Given the description of an element on the screen output the (x, y) to click on. 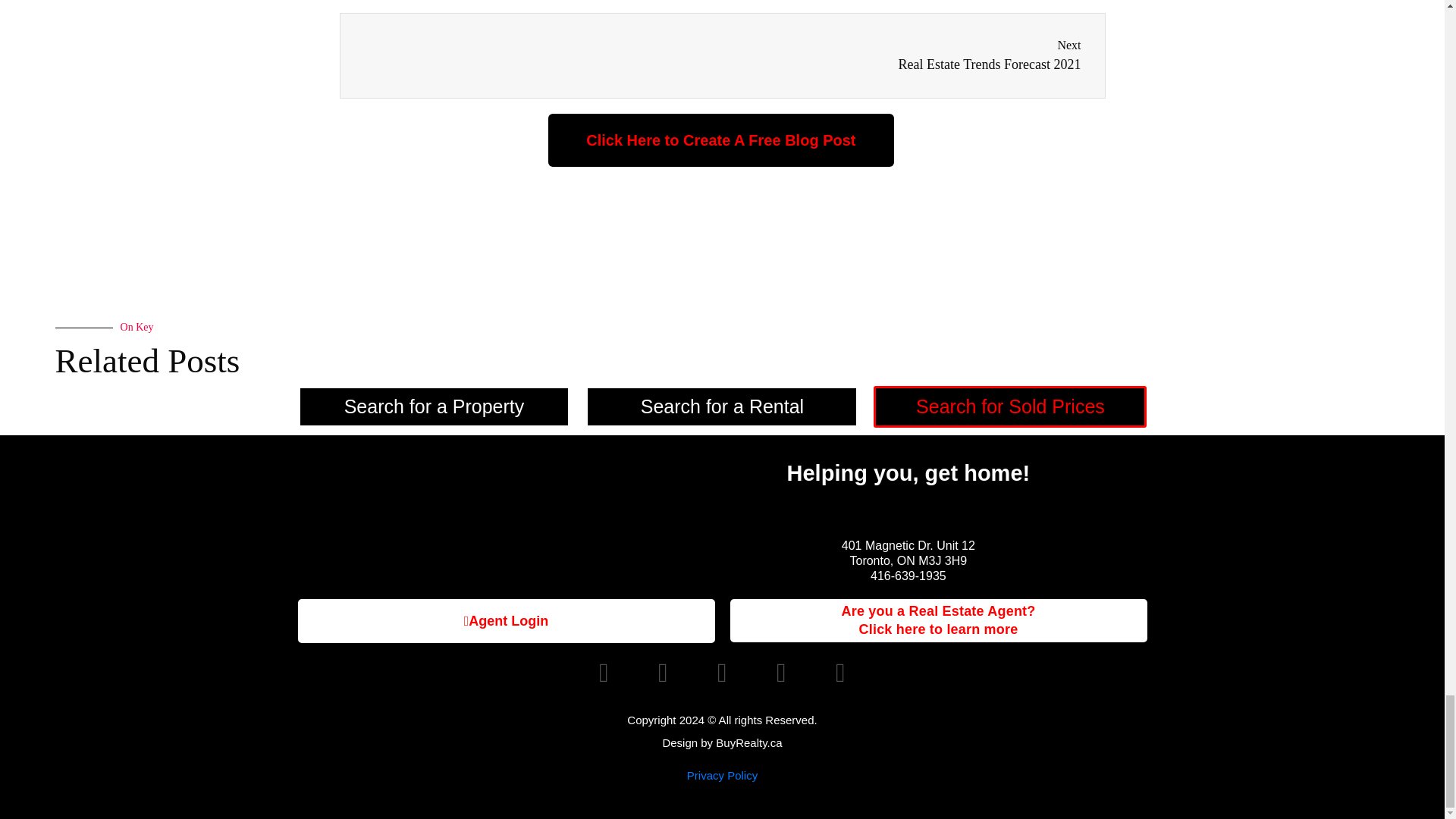
Search for Sold Prices (938, 620)
Search for a Rental (1010, 406)
Agent Login (722, 406)
Click Here to Create A Free Blog Post (505, 620)
Privacy Policy (720, 140)
Search for a Property (901, 55)
